Given the description of an element on the screen output the (x, y) to click on. 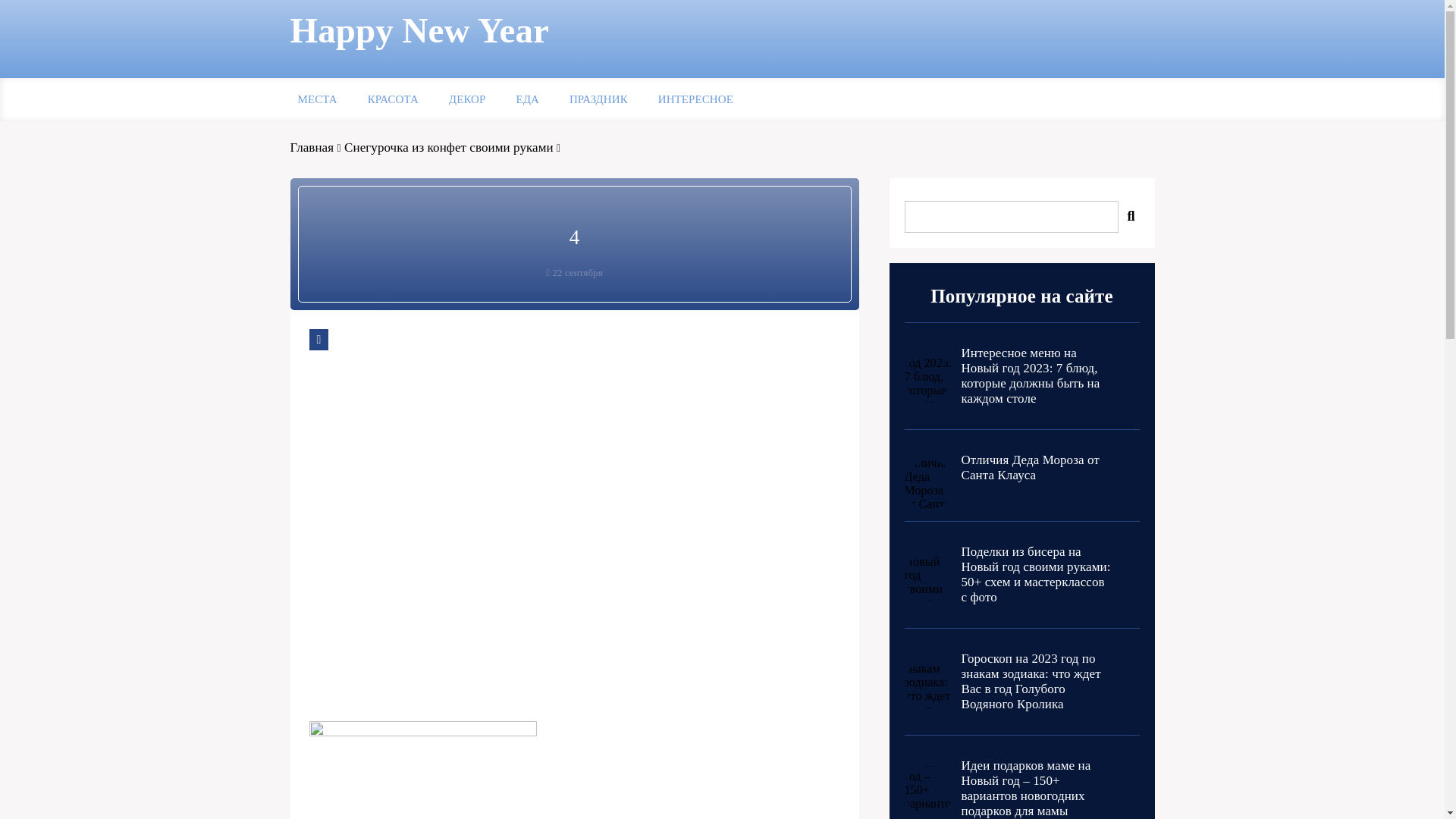
Happy New Year Element type: text (418, 30)
